Given the description of an element on the screen output the (x, y) to click on. 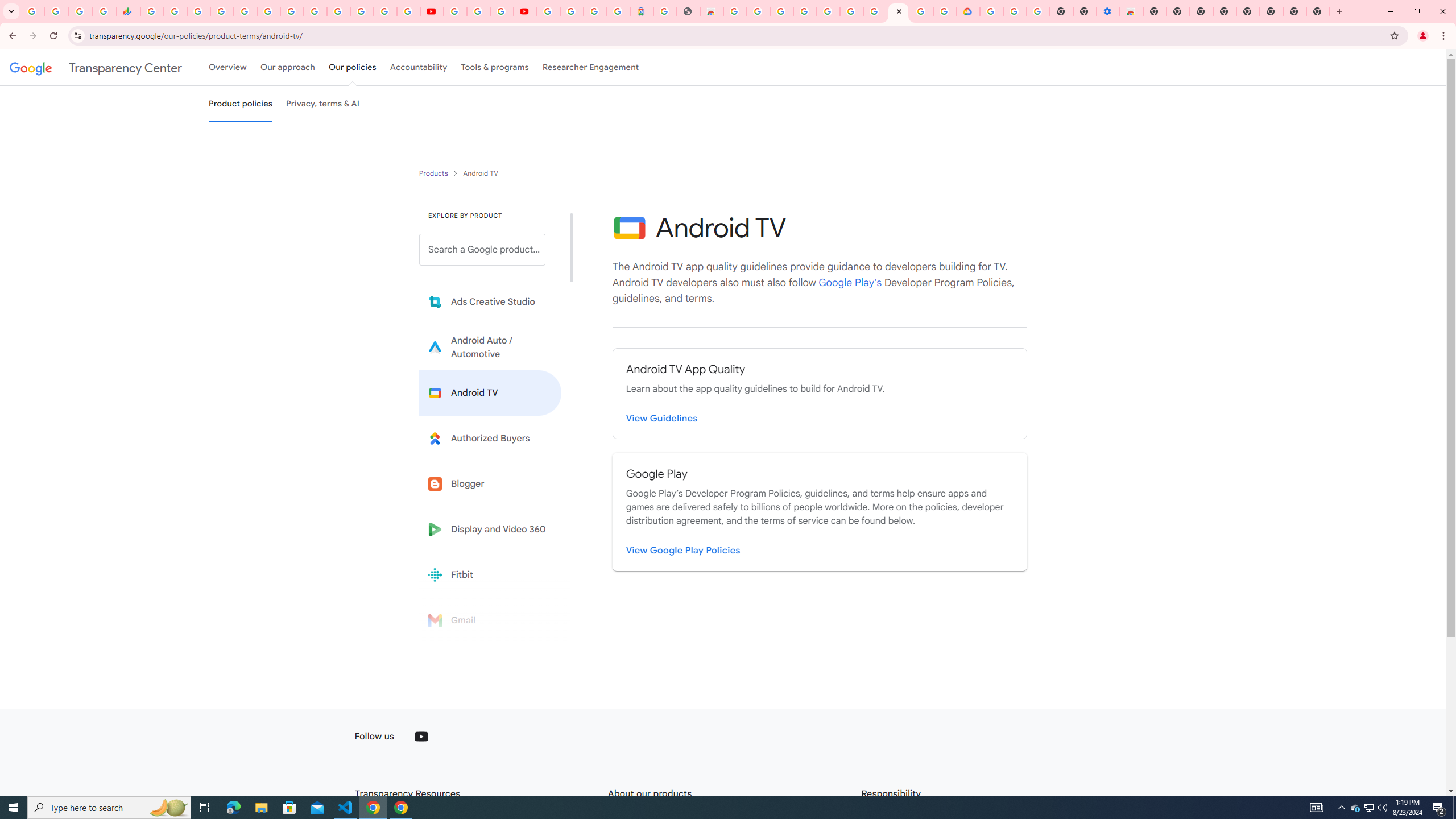
Sign in - Google Accounts (827, 11)
Gmail (490, 619)
